Given the description of an element on the screen output the (x, y) to click on. 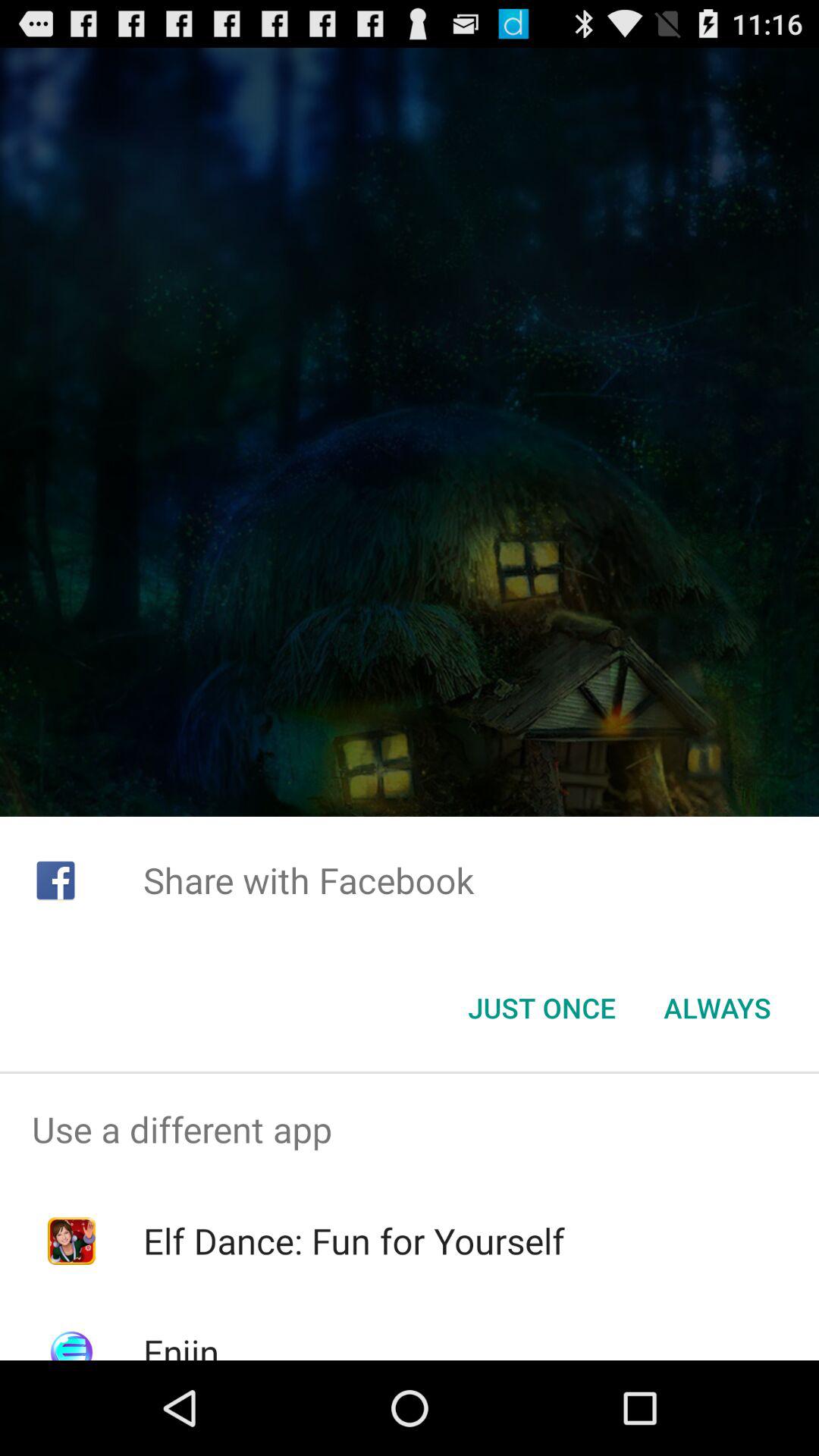
tap use a different icon (409, 1129)
